Given the description of an element on the screen output the (x, y) to click on. 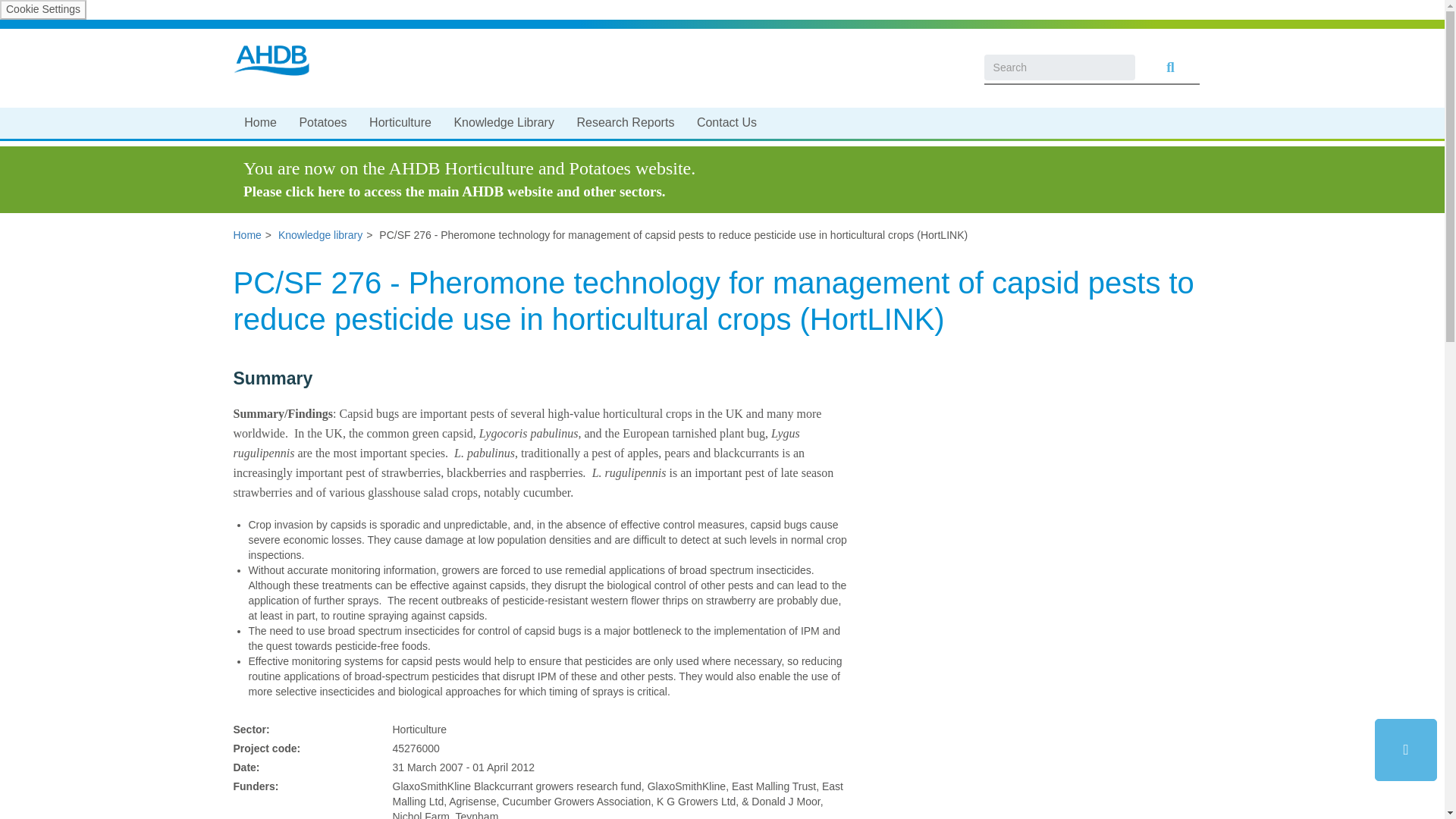
Horticulture (399, 121)
Knowledge library (320, 234)
Contact Us (726, 121)
Enter search term (1059, 67)
Research Reports (625, 121)
Cookie Settings (42, 9)
Knowledge Library (504, 121)
Potatoes (323, 121)
Search the entire site (1168, 67)
